Given the description of an element on the screen output the (x, y) to click on. 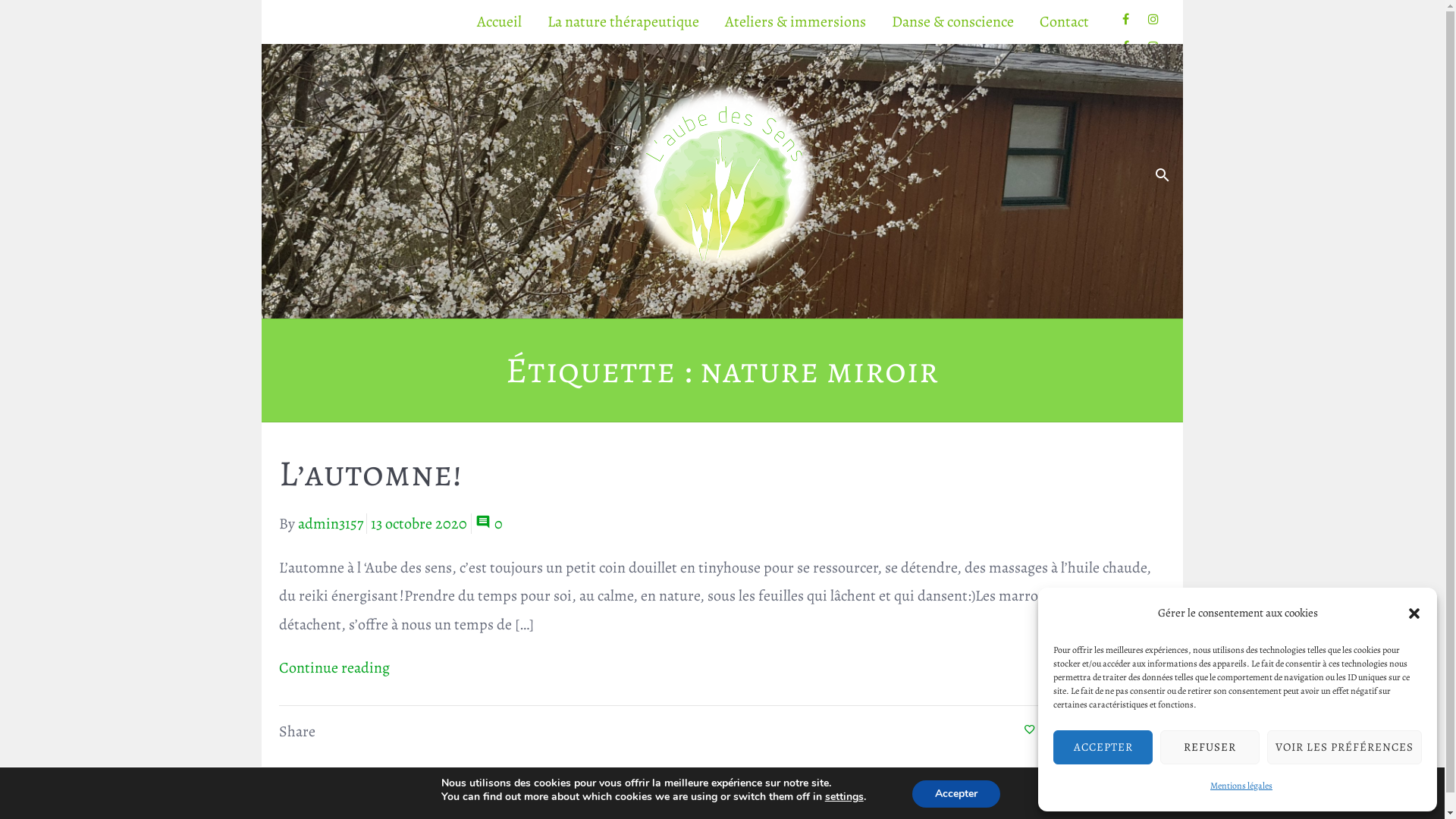
settings Element type: text (844, 796)
0 Element type: text (488, 523)
ACCEPTER Element type: text (1102, 746)
Danse & conscience Element type: text (952, 21)
Instagram Element type: hover (1153, 27)
Accepter Element type: text (956, 793)
Facebook Element type: hover (1125, 27)
Continue reading Element type: text (722, 667)
Contact Element type: text (1064, 21)
Accueil Element type: text (499, 21)
Ateliers & immersions Element type: text (795, 21)
REFUSER Element type: text (1209, 746)
admin3157 Element type: text (329, 523)
0 Element type: text (1034, 729)
13 octobre 2020 Element type: text (418, 523)
